Given the description of an element on the screen output the (x, y) to click on. 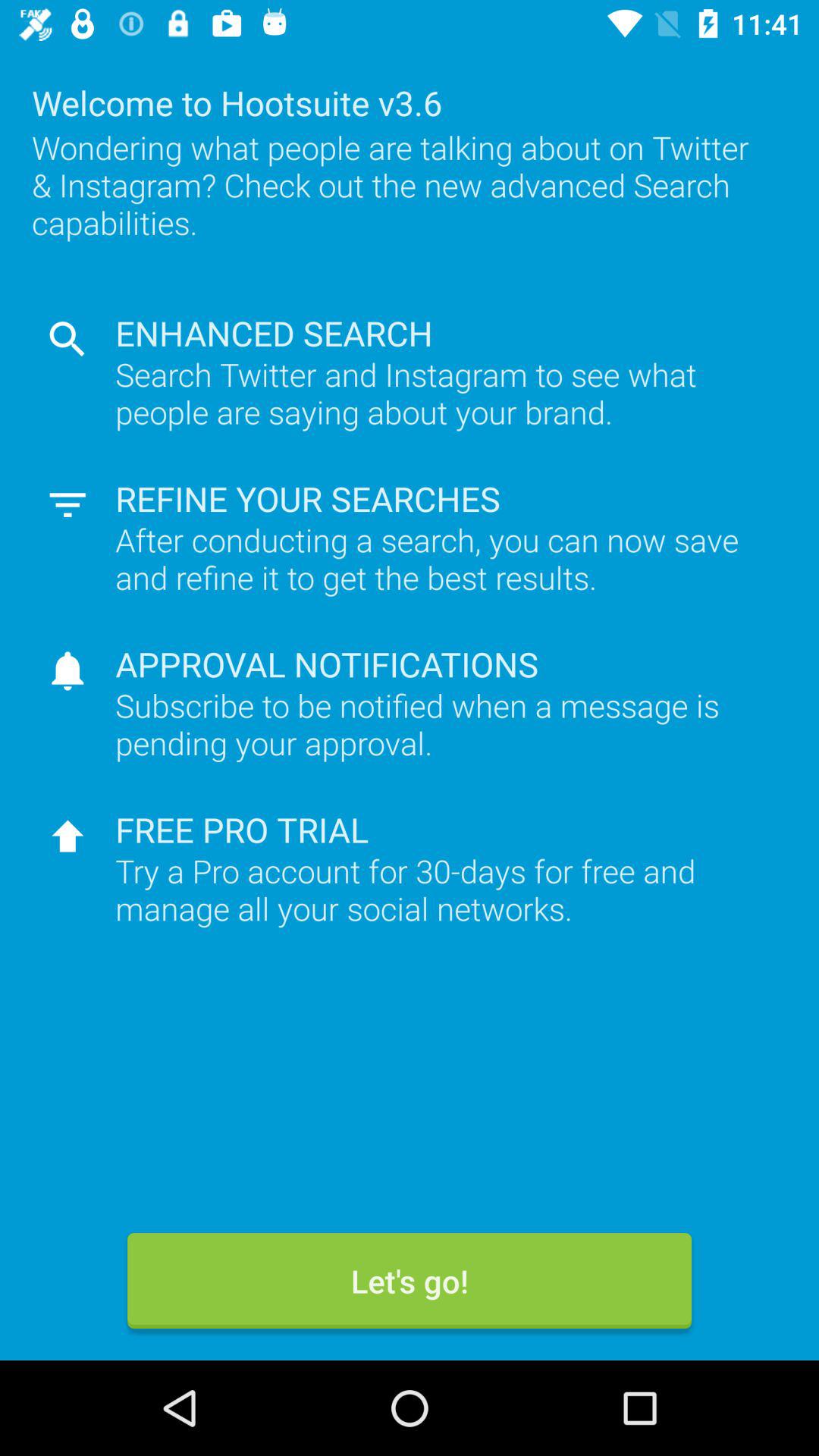
launch the let's go! item (409, 1280)
